Given the description of an element on the screen output the (x, y) to click on. 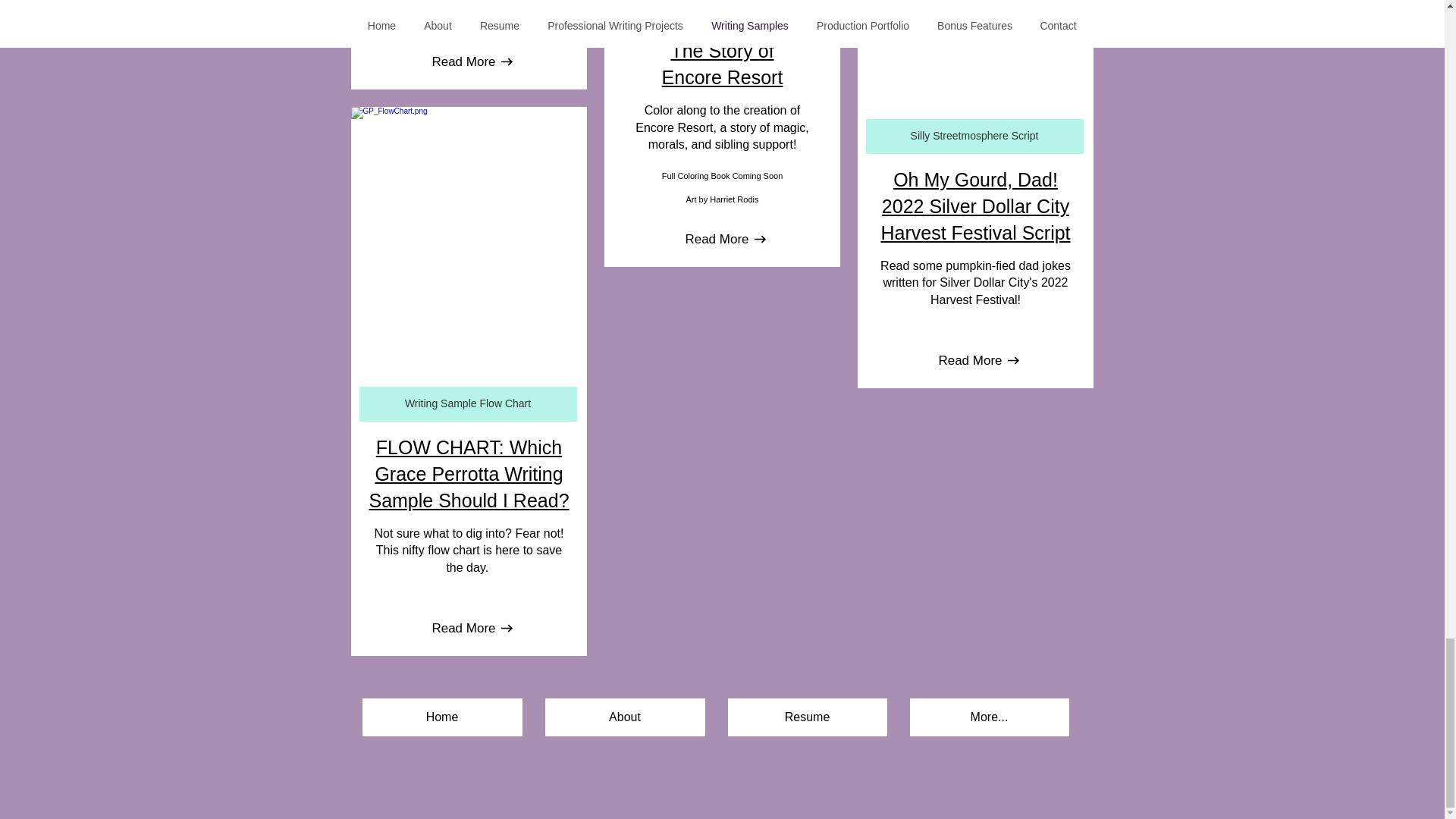
Read More (463, 62)
Writing Sample Flow Chart (467, 403)
Read More (463, 628)
